Given the description of an element on the screen output the (x, y) to click on. 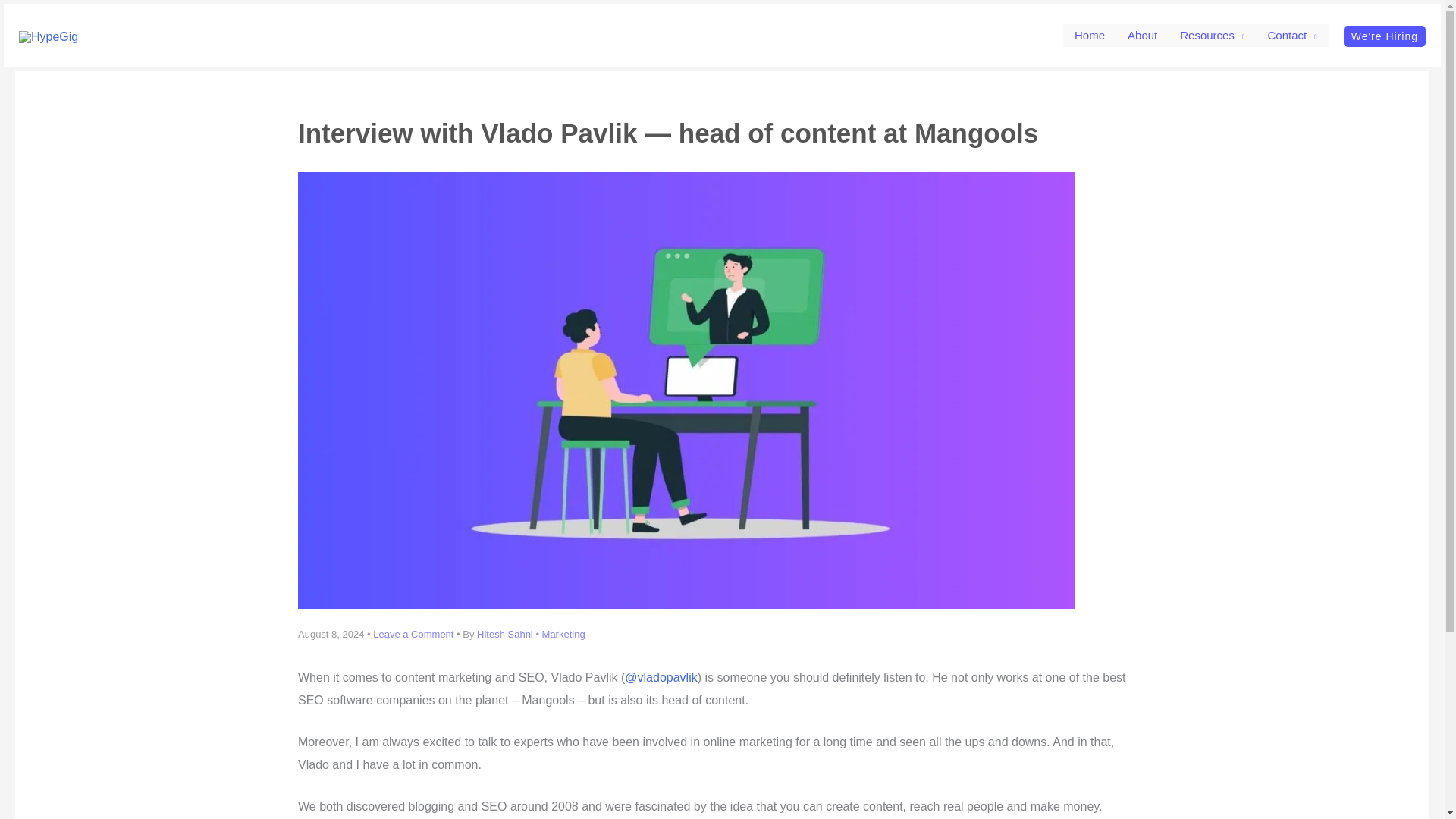
About (1142, 35)
Leave a Comment (412, 633)
View all posts by Hitesh Sahni (506, 633)
Hitesh Sahni (506, 633)
We're Hiring (1384, 35)
Marketing (563, 633)
Contact (1291, 35)
Resources (1212, 35)
Home (1089, 35)
